Given the description of an element on the screen output the (x, y) to click on. 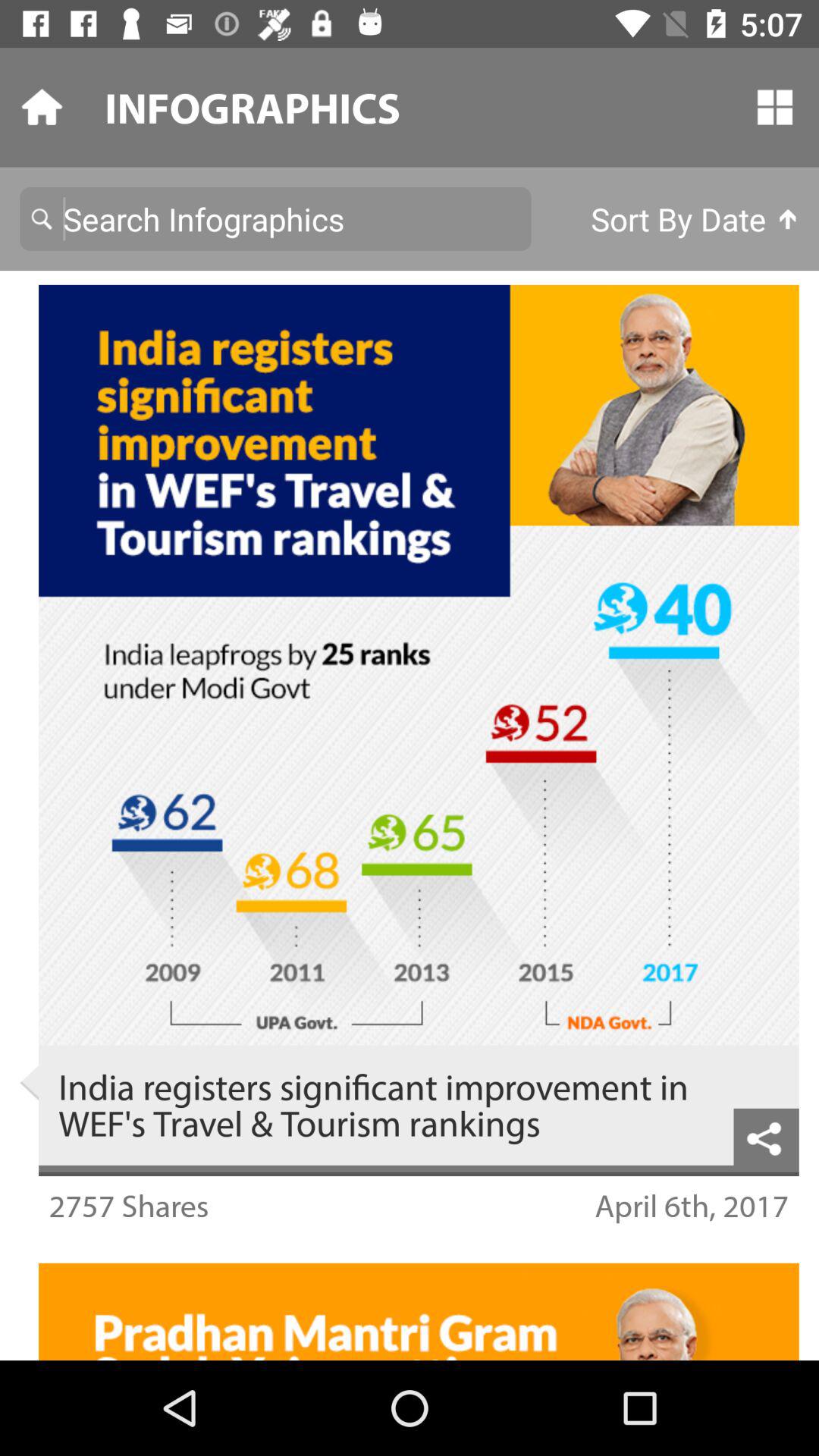
turn on item next to the india registers significant (28, 1082)
